Given the description of an element on the screen output the (x, y) to click on. 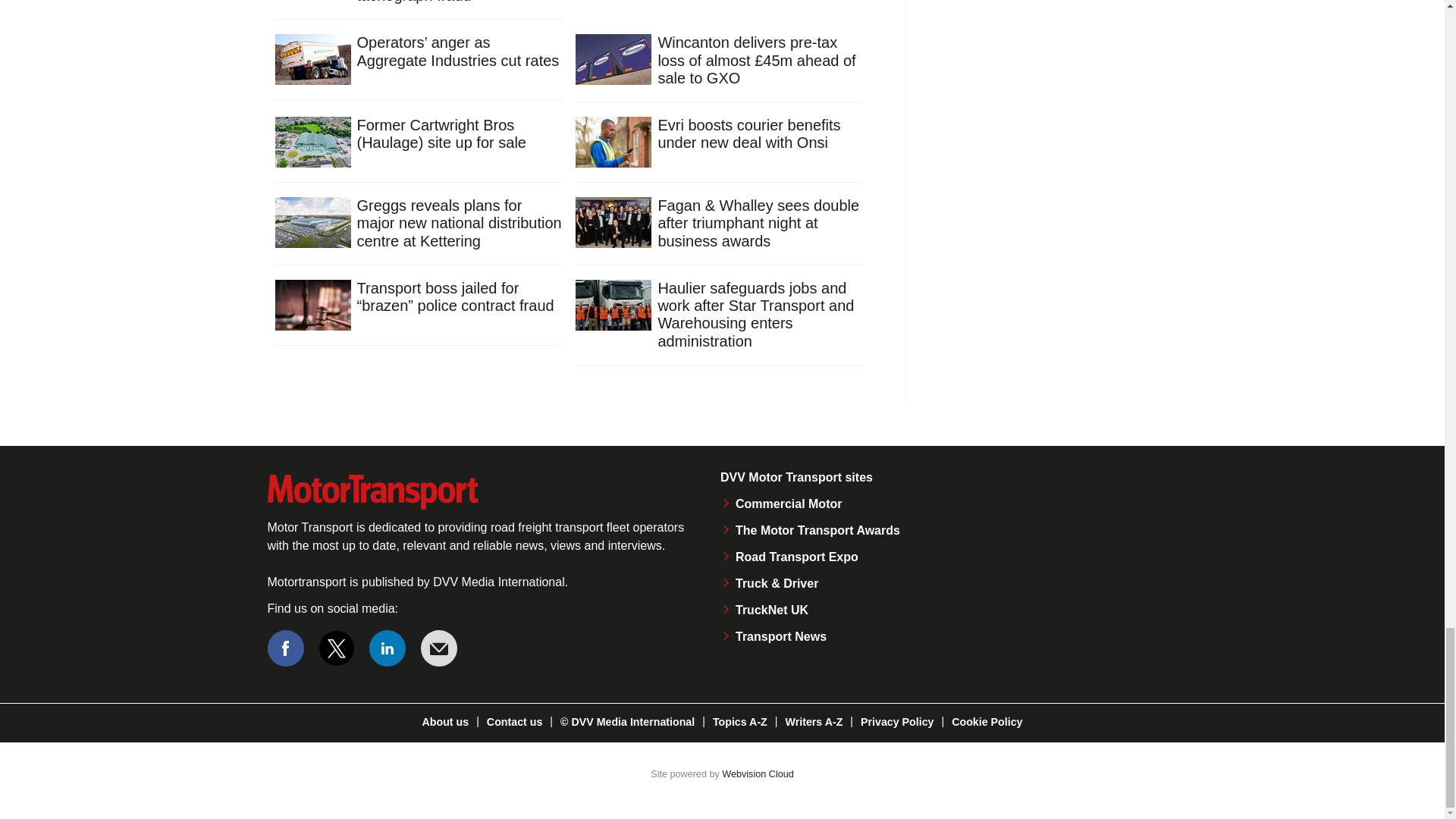
Connect with us on Facebook (284, 647)
Connect with us on Twitter (336, 647)
Connect with us on Linked in (387, 647)
Email us (438, 647)
